Given the description of an element on the screen output the (x, y) to click on. 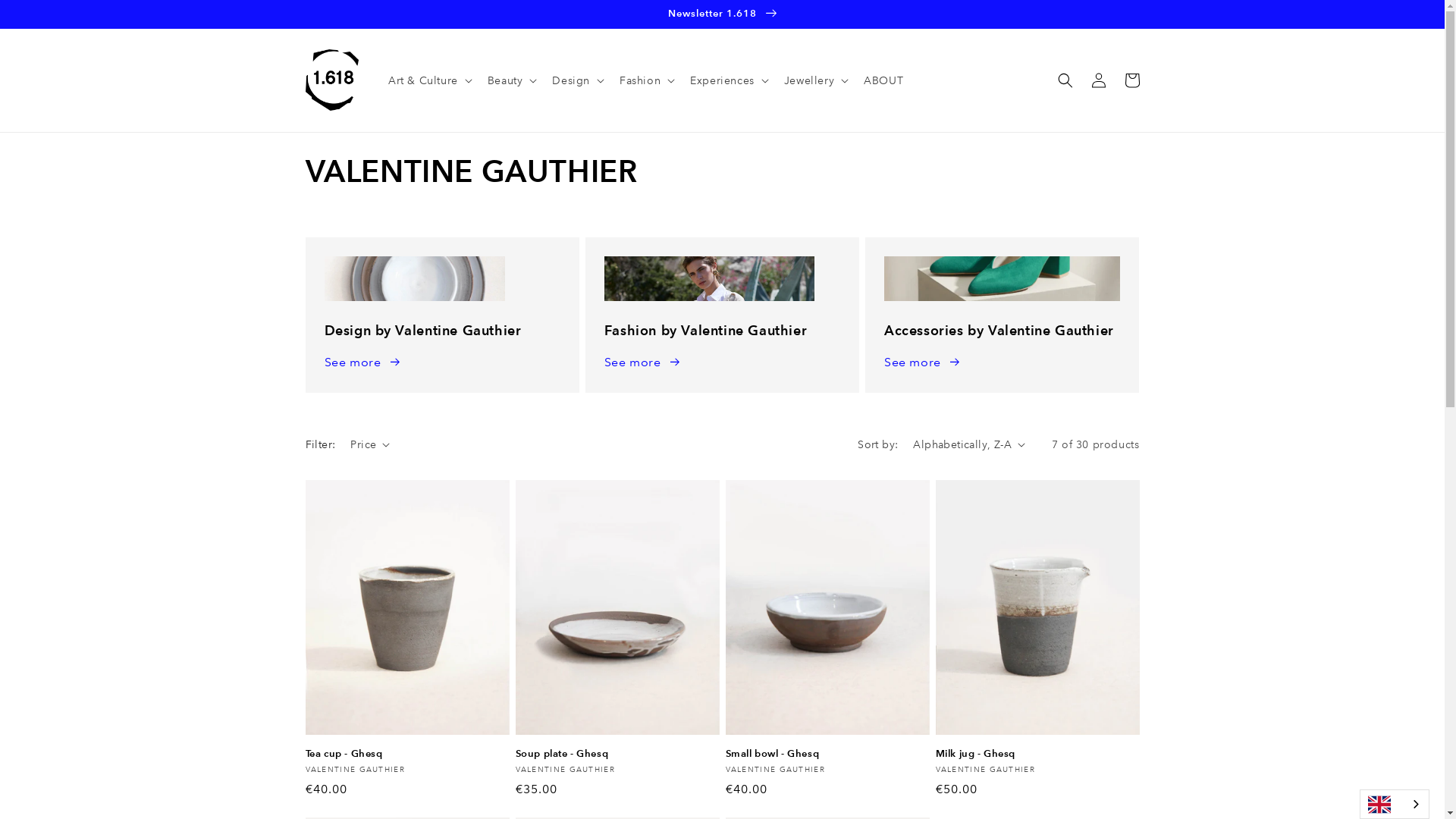
Tea cup - Ghesq Element type: text (406, 753)
Newsletter 1.618 Element type: text (722, 14)
See more  Element type: text (922, 362)
See more  Element type: text (362, 362)
Soup plate - Ghesq Element type: text (617, 753)
See more  Element type: text (642, 362)
Small bowl - Ghesq Element type: text (826, 753)
ABOUT Element type: text (883, 80)
Cart Element type: text (1131, 80)
Log in Element type: text (1097, 80)
Milk jug - Ghesq Element type: text (1037, 753)
